Given the description of an element on the screen output the (x, y) to click on. 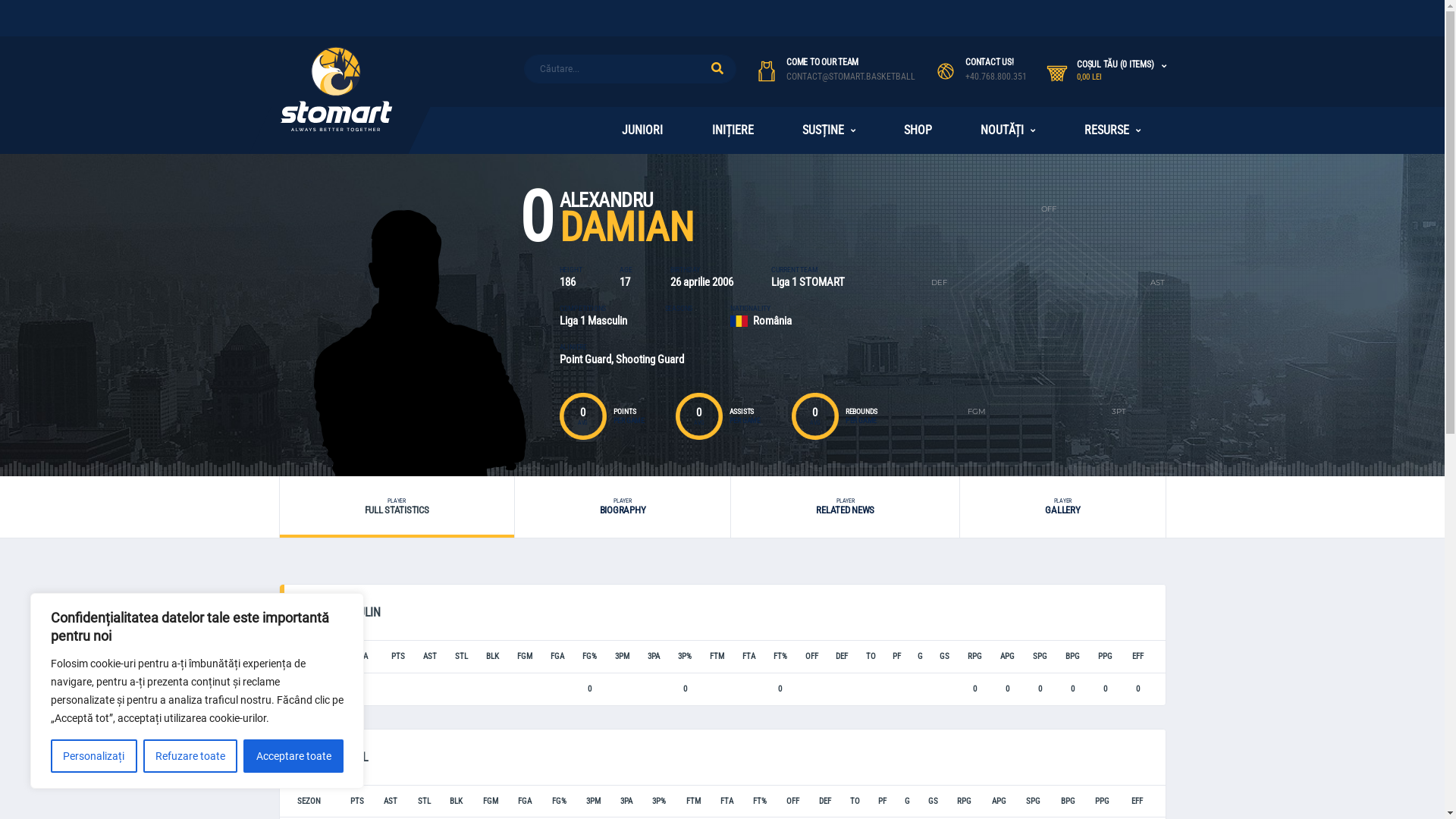
PLAYER
FULL STATISTICS Element type: text (396, 506)
RESURSE Element type: text (1112, 129)
PLAYER
RELATED NEWS Element type: text (845, 506)
PLAYER
BIOGRAPHY Element type: text (622, 506)
+40.768.800.351 Element type: text (995, 76)
CONTACT@STOMART.BASKETBALL Element type: text (850, 76)
SHOP Element type: text (917, 129)
PLAYER
GALLERY Element type: text (1062, 506)
JUNIORI Element type: text (642, 129)
